Given the description of an element on the screen output the (x, y) to click on. 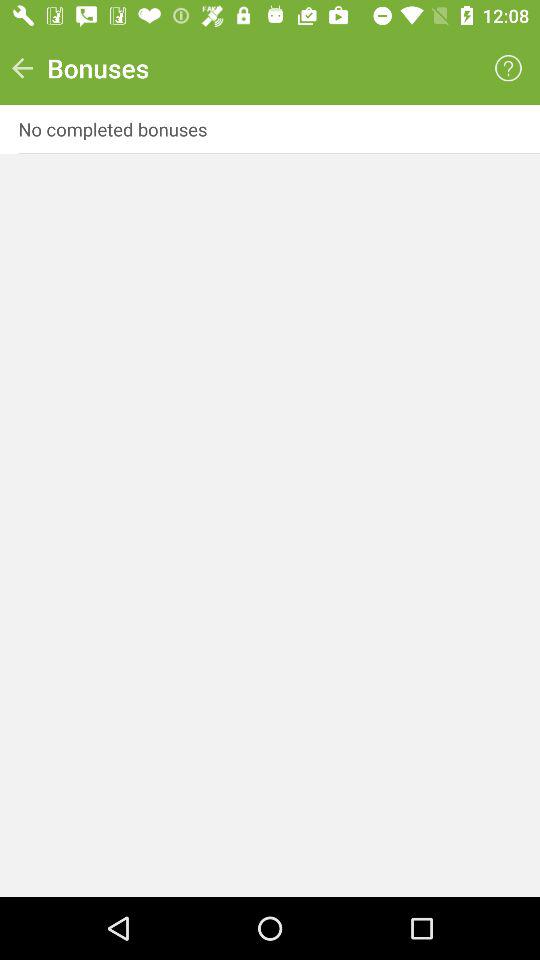
turn on item above the no completed bonuses item (22, 67)
